Given the description of an element on the screen output the (x, y) to click on. 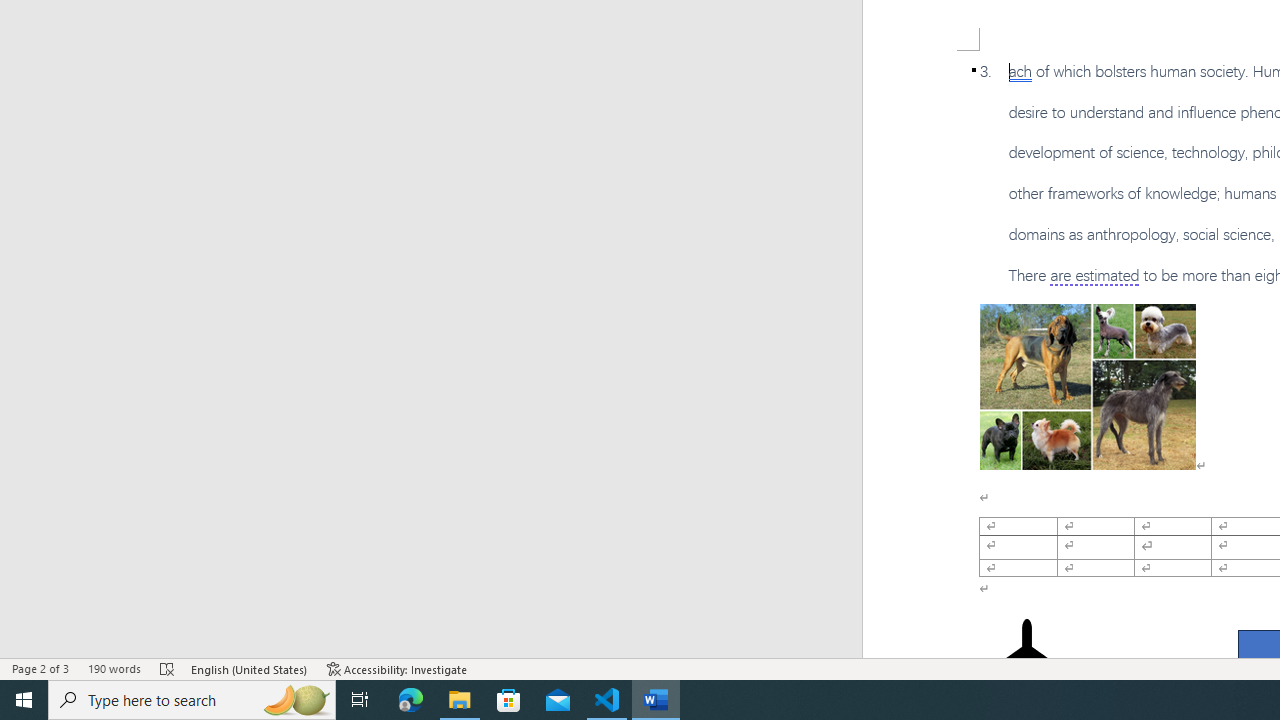
Page Number Page 2 of 3 (39, 668)
